Given the description of an element on the screen output the (x, y) to click on. 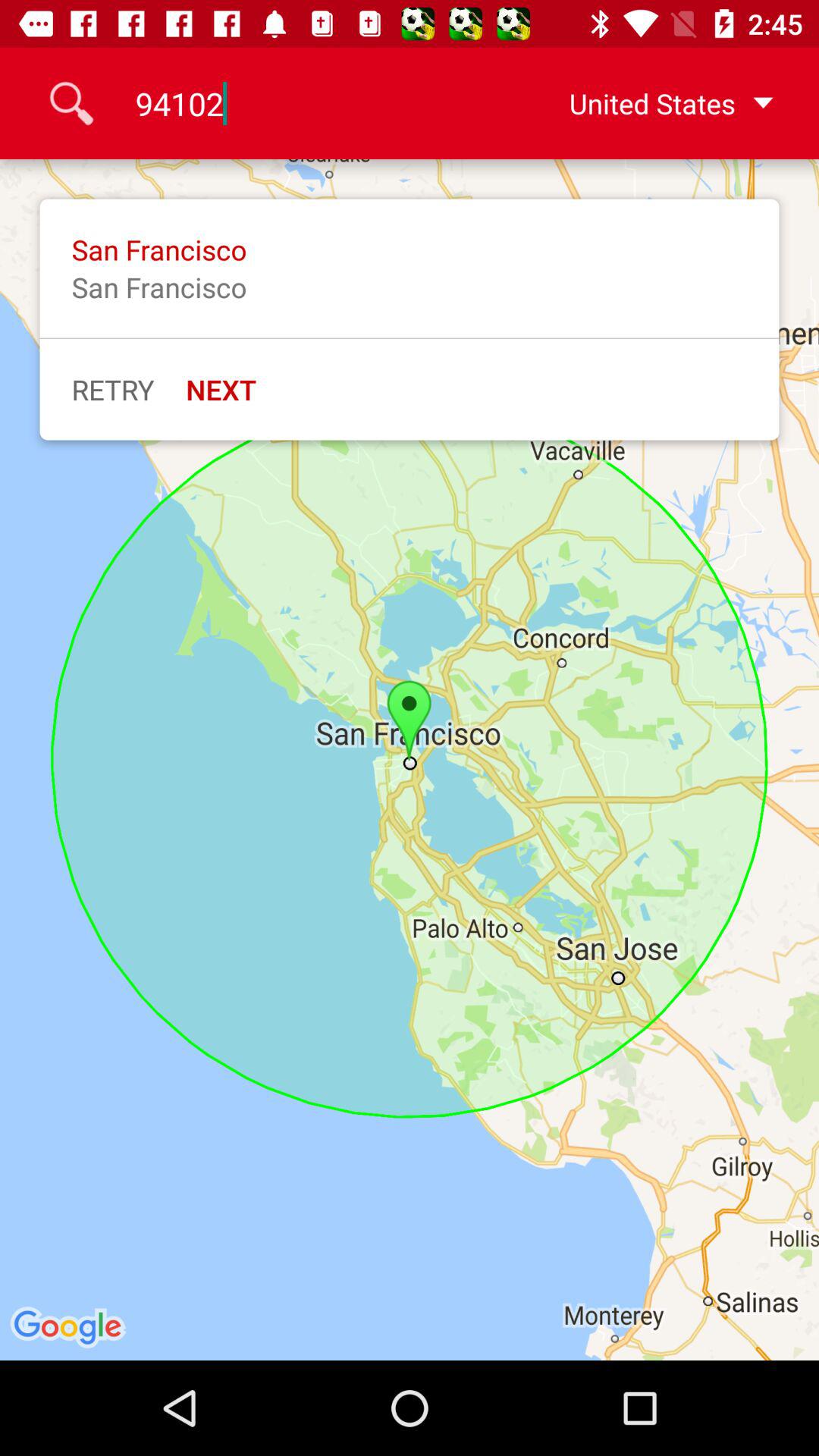
turn off item at the top right corner (647, 103)
